Given the description of an element on the screen output the (x, y) to click on. 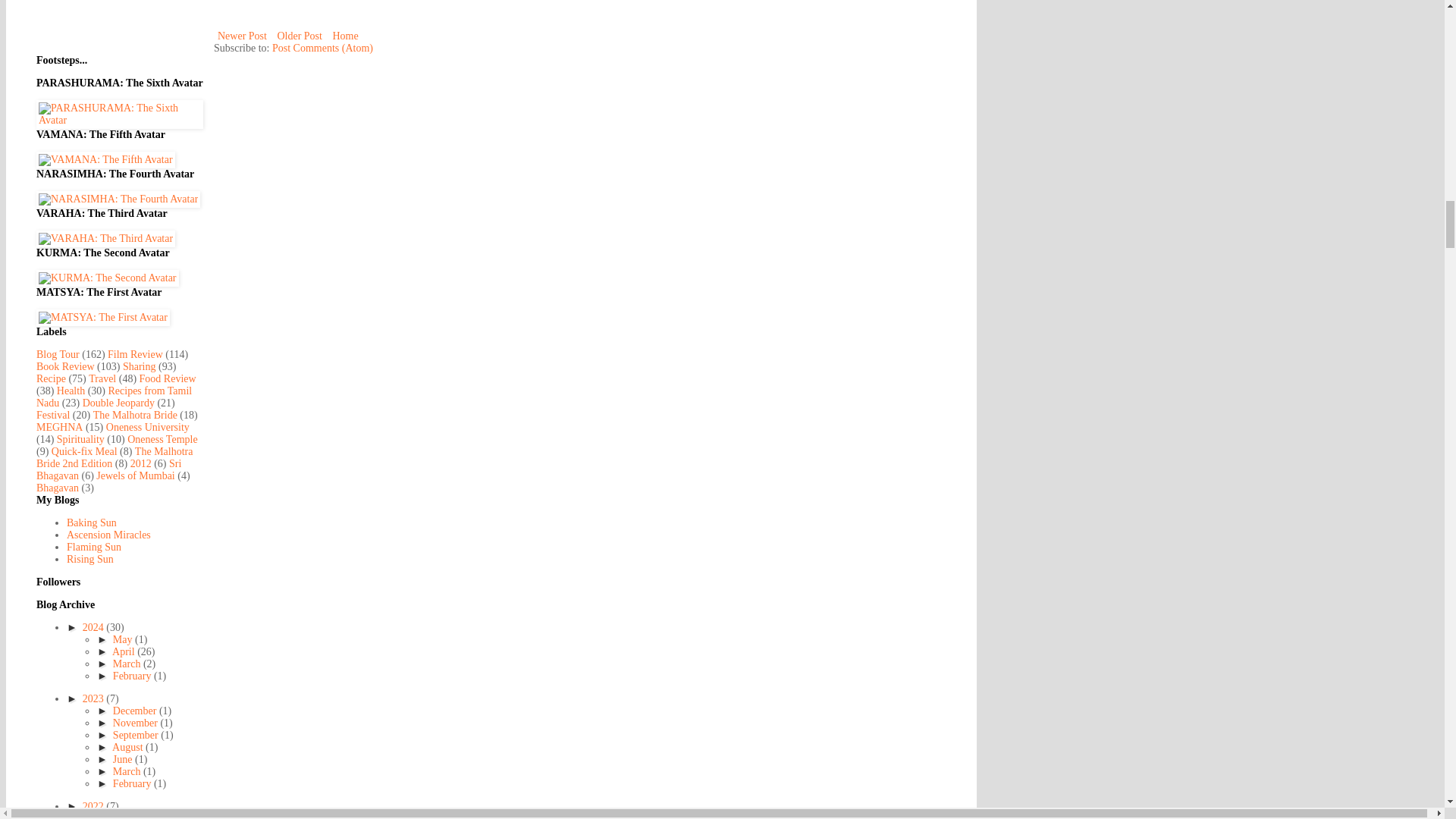
Older Post (299, 35)
Newer Post (242, 35)
